Given the description of an element on the screen output the (x, y) to click on. 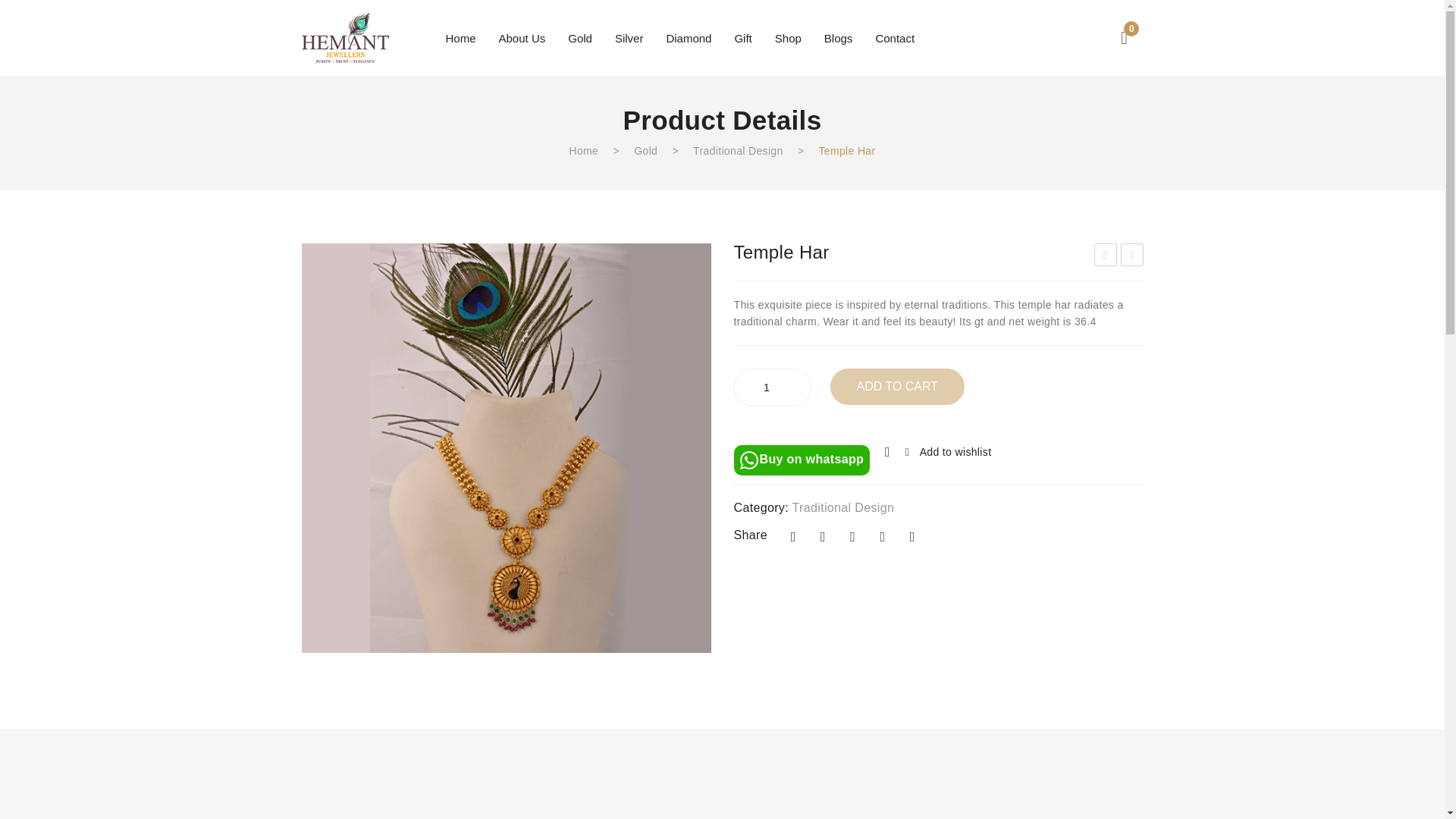
Pinterest (852, 536)
Twitter (822, 536)
1 (771, 387)
Hemant Jewellers (344, 37)
Facebook (793, 536)
LinkedIn (912, 536)
